Given the description of an element on the screen output the (x, y) to click on. 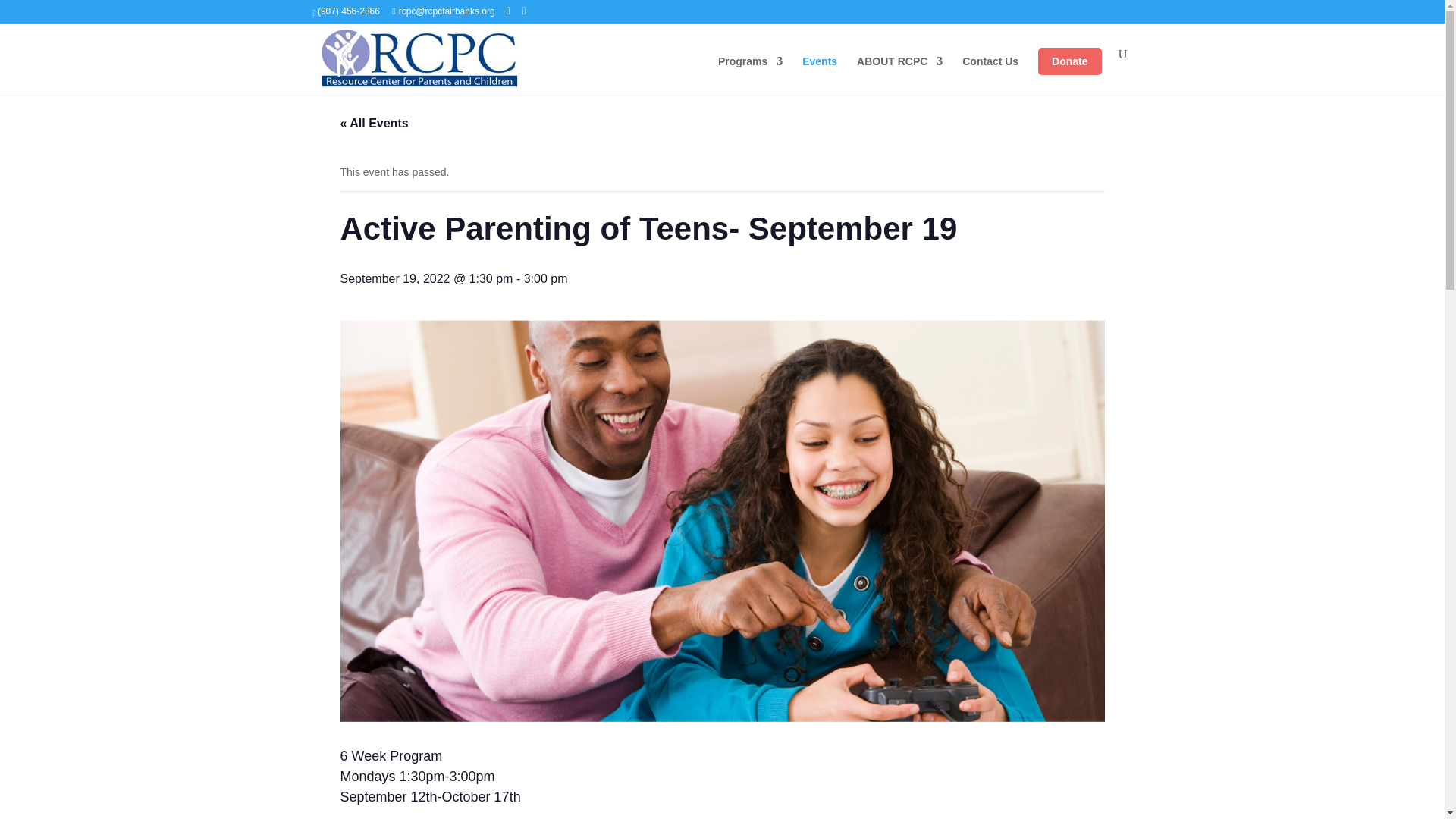
ABOUT RCPC (899, 73)
Programs (750, 73)
Donate (1069, 61)
Events (819, 73)
Contact Us (989, 73)
